Given the description of an element on the screen output the (x, y) to click on. 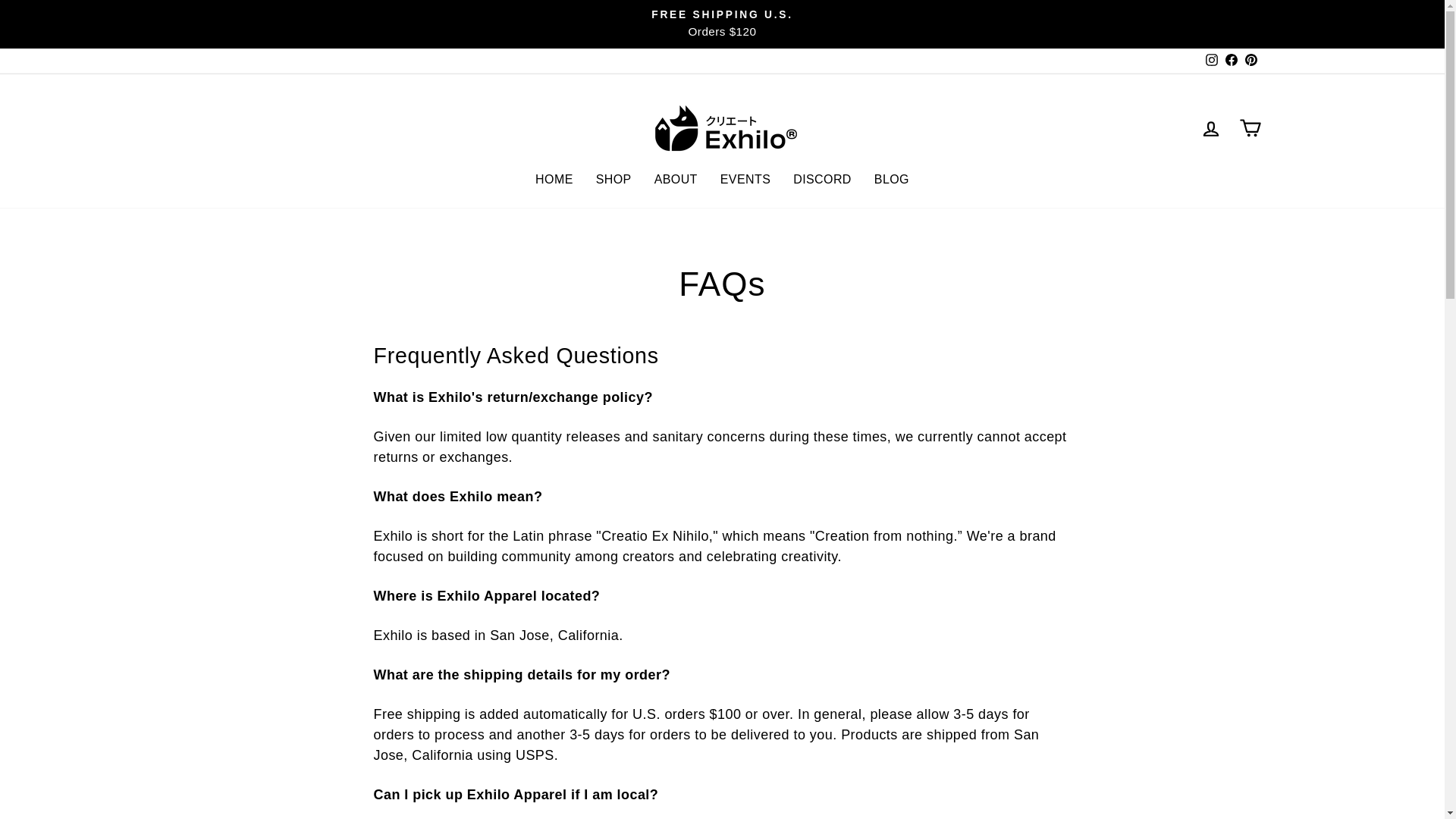
BLOG (891, 179)
DISCORD (822, 179)
Exhilo Studio on Pinterest (1250, 60)
EVENTS (745, 179)
HOME (554, 179)
Facebook (1230, 60)
Exhilo Studio on Instagram (1211, 60)
Exhilo Studio on Facebook (1230, 60)
Instagram (1211, 60)
ABOUT (676, 179)
LOG IN (1210, 127)
SHOP (614, 179)
CART (1249, 127)
Pinterest (1250, 60)
